Given the description of an element on the screen output the (x, y) to click on. 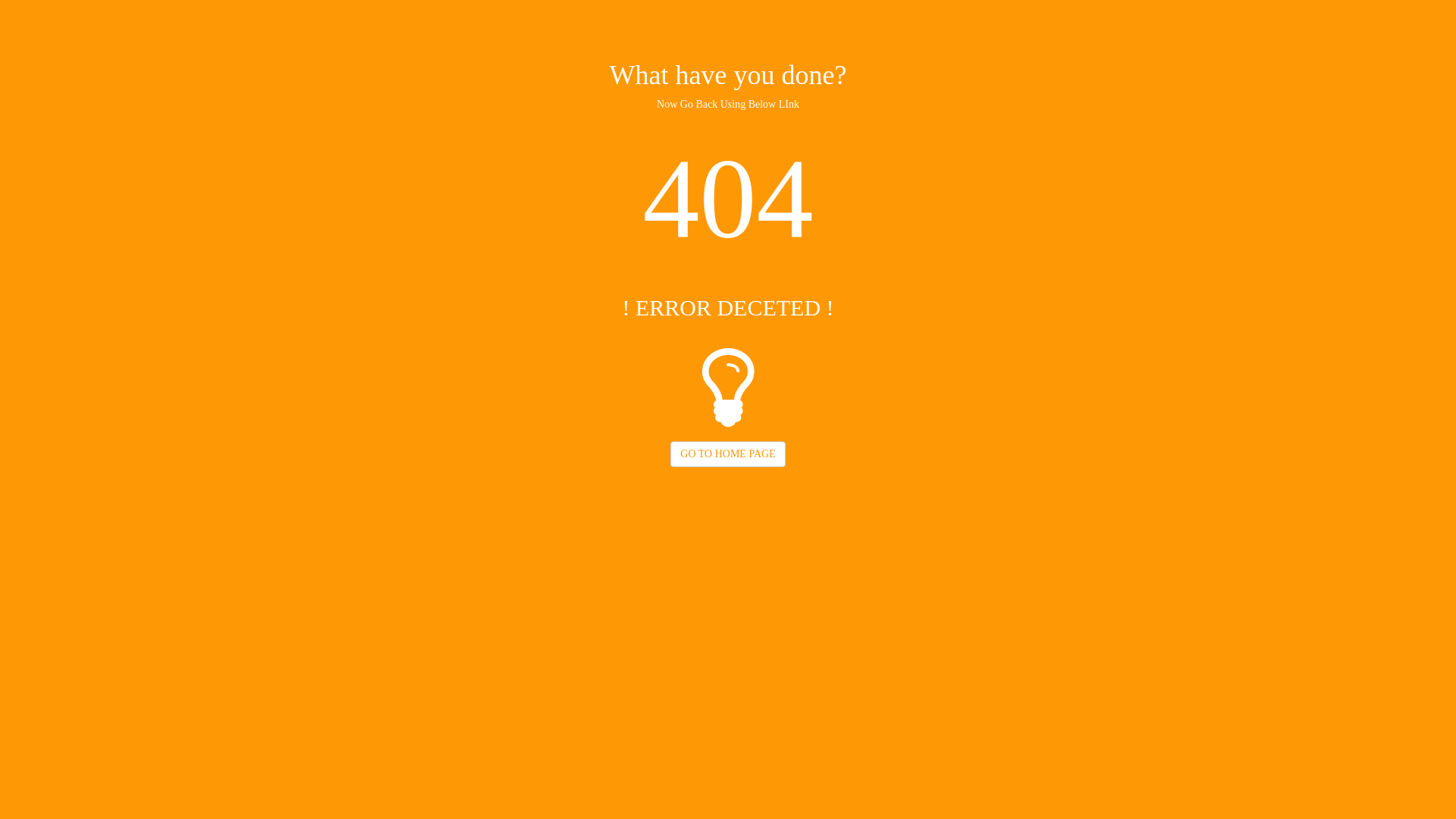
GO TO HOME PAGE Element type: text (727, 454)
